Given the description of an element on the screen output the (x, y) to click on. 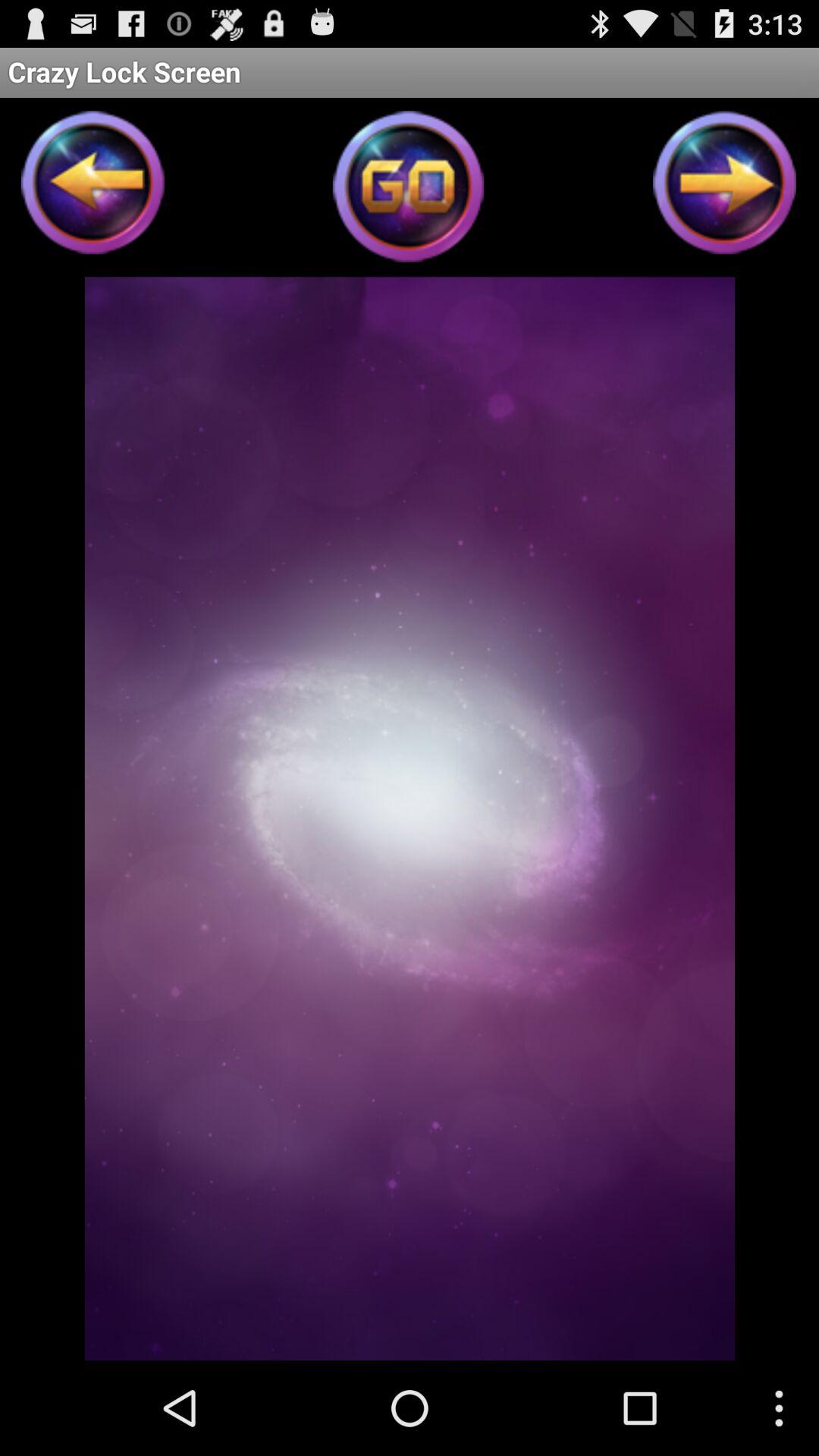
select go (408, 190)
